Given the description of an element on the screen output the (x, y) to click on. 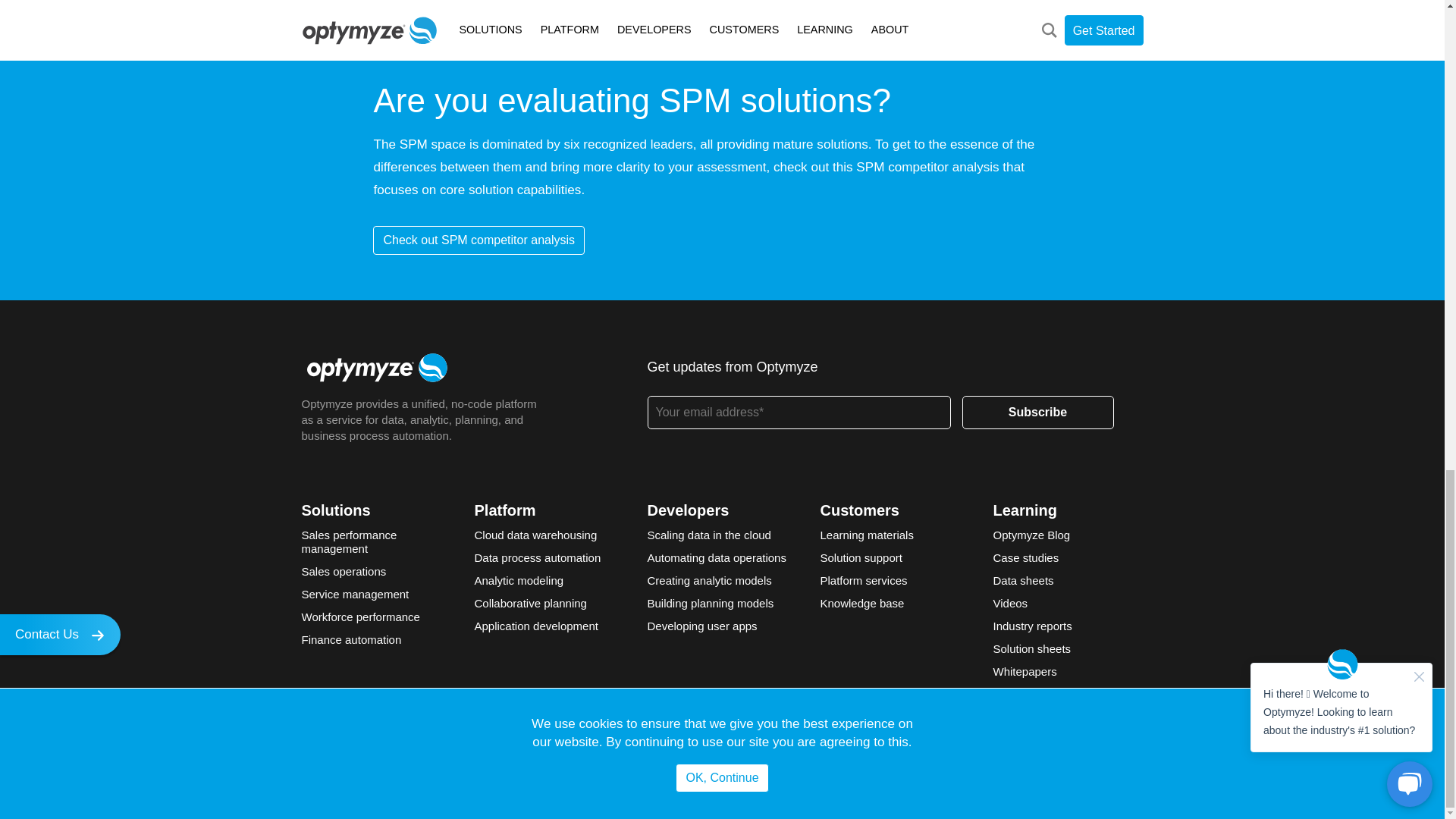
Subscribe (1036, 412)
Optymyze Twitter (363, 782)
Optymyze YouTube (413, 782)
Optymyze Linkedin (315, 782)
